Given the description of an element on the screen output the (x, y) to click on. 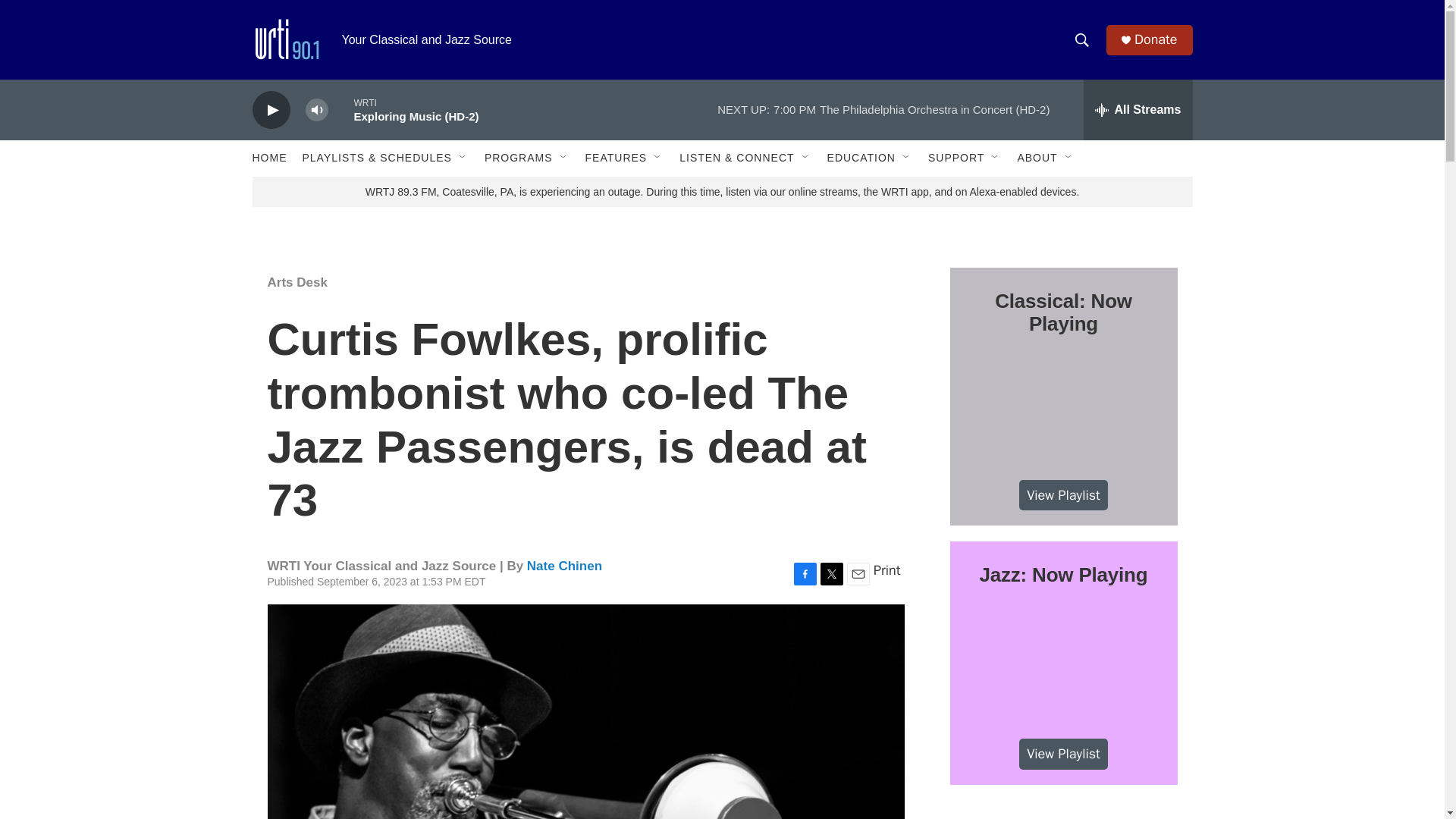
3rd party ad content (1062, 809)
